Given the description of an element on the screen output the (x, y) to click on. 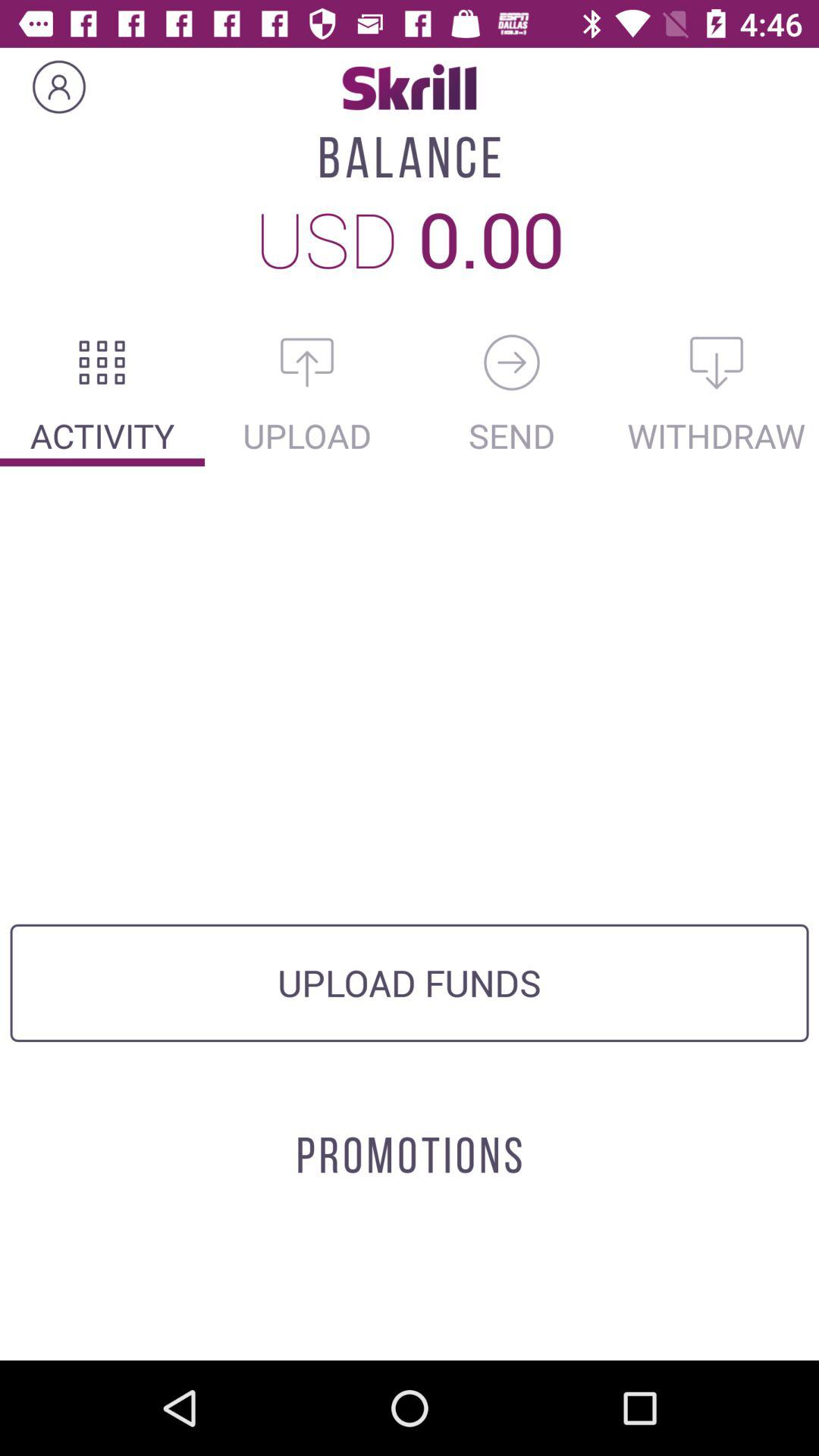
send money (511, 362)
